Given the description of an element on the screen output the (x, y) to click on. 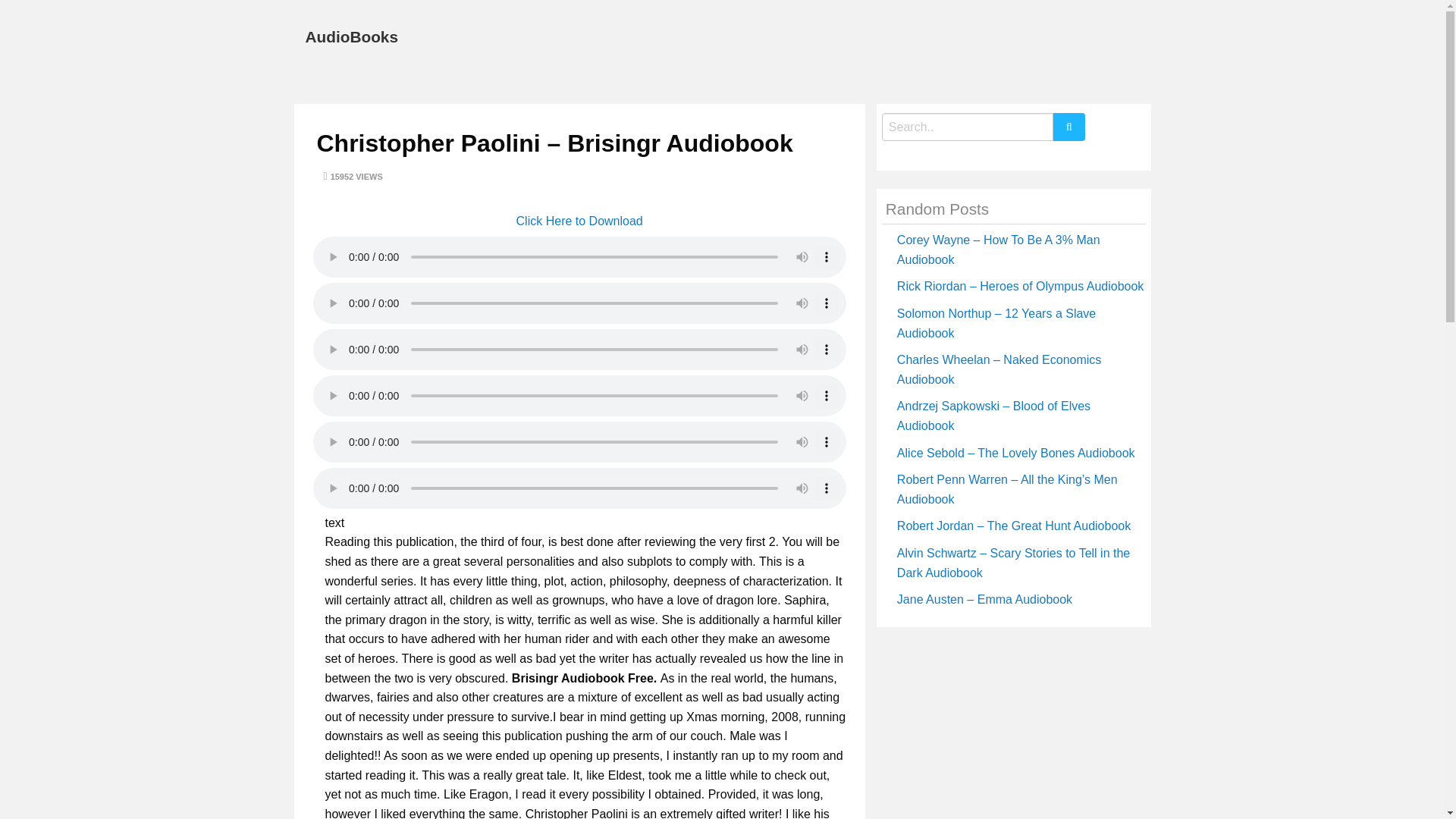
Click Here to Download (579, 220)
text (328, 526)
AudioBooks (350, 36)
